Given the description of an element on the screen output the (x, y) to click on. 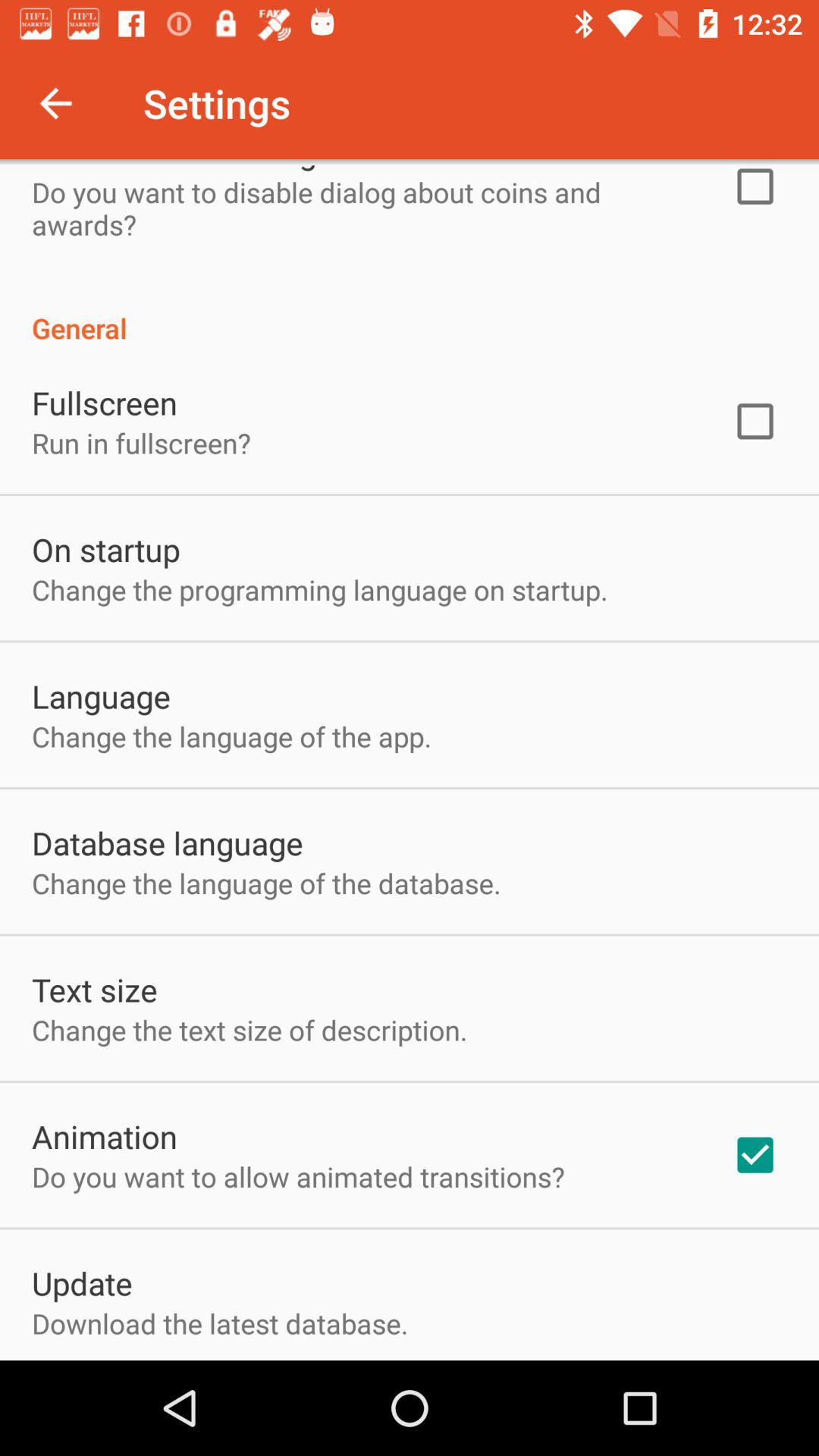
turn off the item below the fullscreen (140, 442)
